Given the description of an element on the screen output the (x, y) to click on. 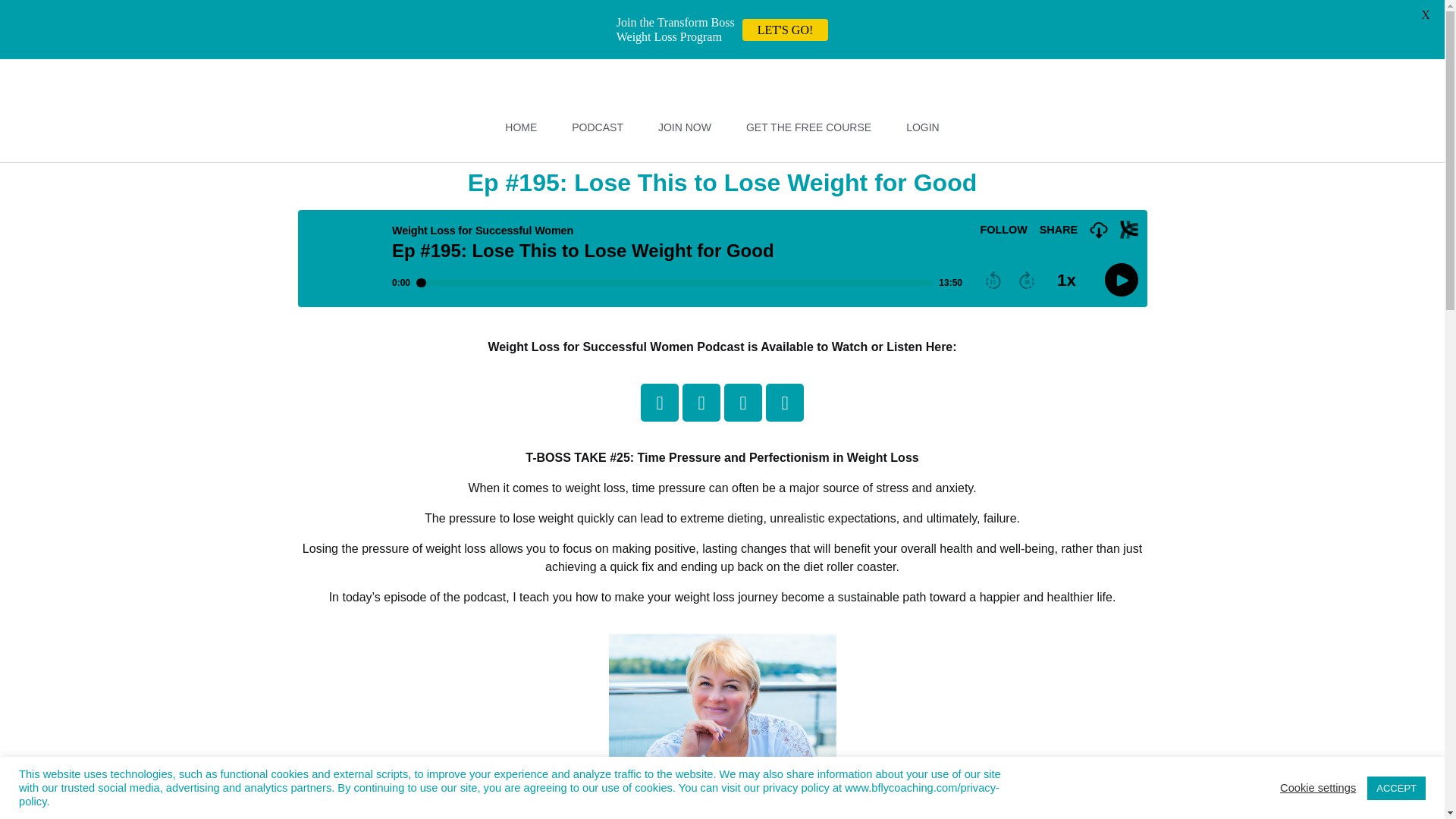
PODCAST (597, 127)
GET THE FREE COURSE (808, 127)
Cookie settings (1317, 787)
LOGIN (923, 127)
HOME (520, 127)
LET'S GO! (785, 29)
Embed Player (722, 258)
JOIN NOW (684, 127)
ACCEPT (1396, 788)
